Given the description of an element on the screen output the (x, y) to click on. 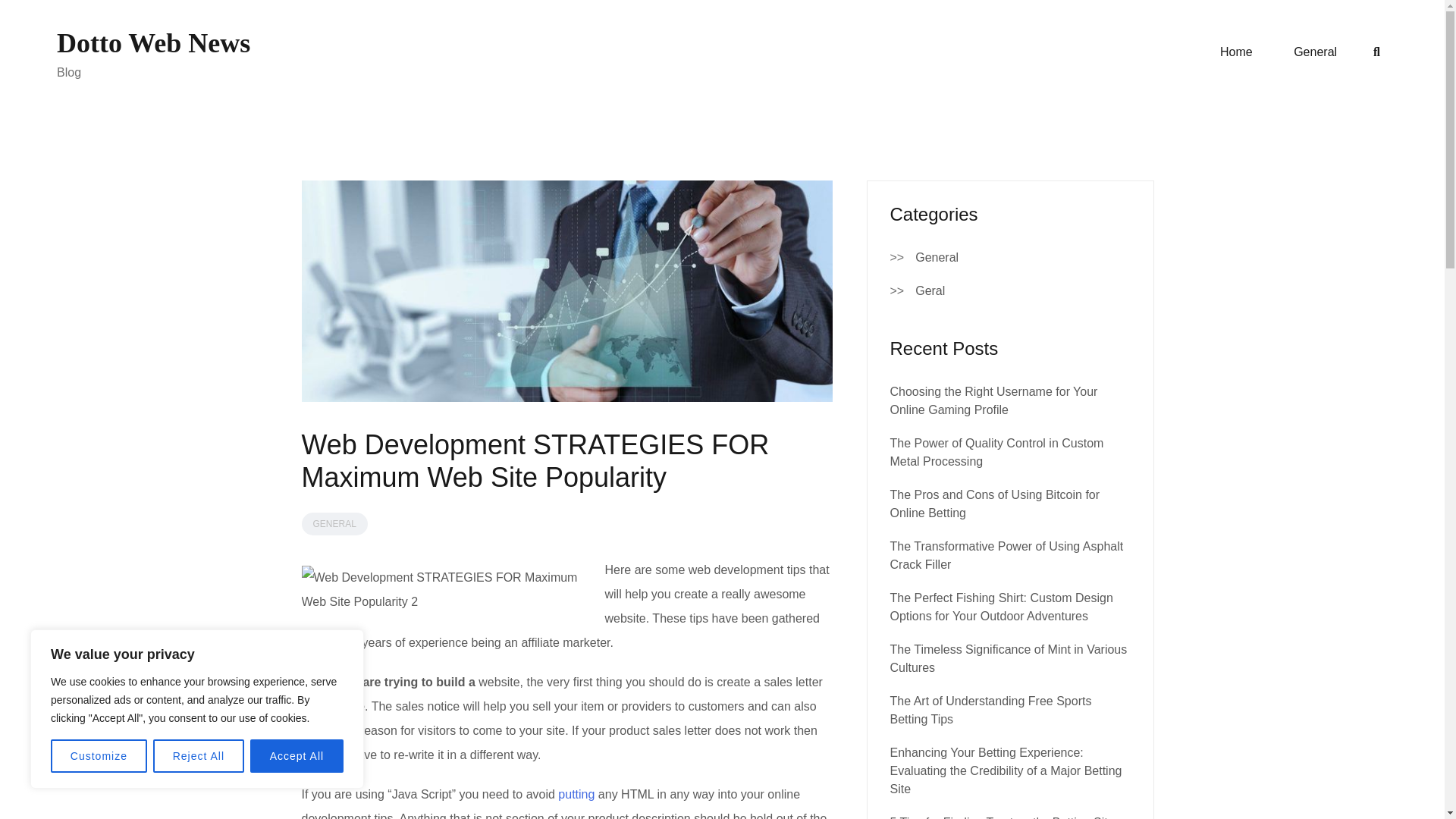
General (1315, 52)
GENERAL (334, 523)
The Timeless Significance of Mint in Various Cultures (1007, 658)
Customize (98, 756)
General (936, 257)
Choosing the Right Username for Your Online Gaming Profile (993, 400)
Geral (929, 290)
Dotto Web News (153, 42)
The Power of Quality Control in Custom Metal Processing (996, 451)
Reject All (198, 756)
putting (575, 793)
The Pros and Cons of Using Bitcoin for Online Betting (994, 503)
The Transformative Power of Using Asphalt Crack Filler (1006, 554)
Home (1236, 52)
